Given the description of an element on the screen output the (x, y) to click on. 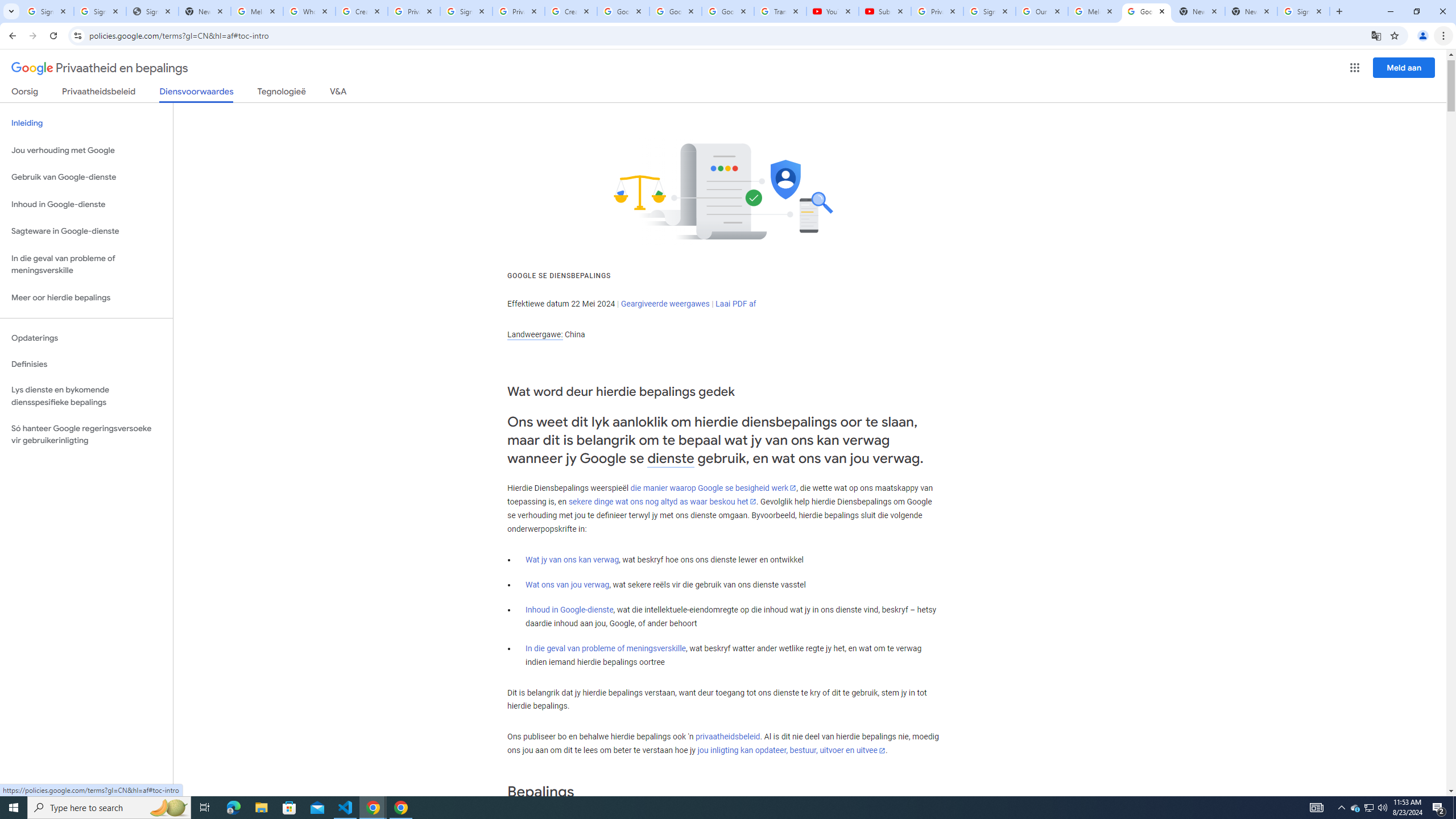
Wat jy van ons kan verwag (571, 559)
Landweergawe: (534, 334)
Google Account (727, 11)
New Tab (1251, 11)
Create your Google Account (571, 11)
Translate this page (1376, 35)
Definisies (86, 363)
